Given the description of an element on the screen output the (x, y) to click on. 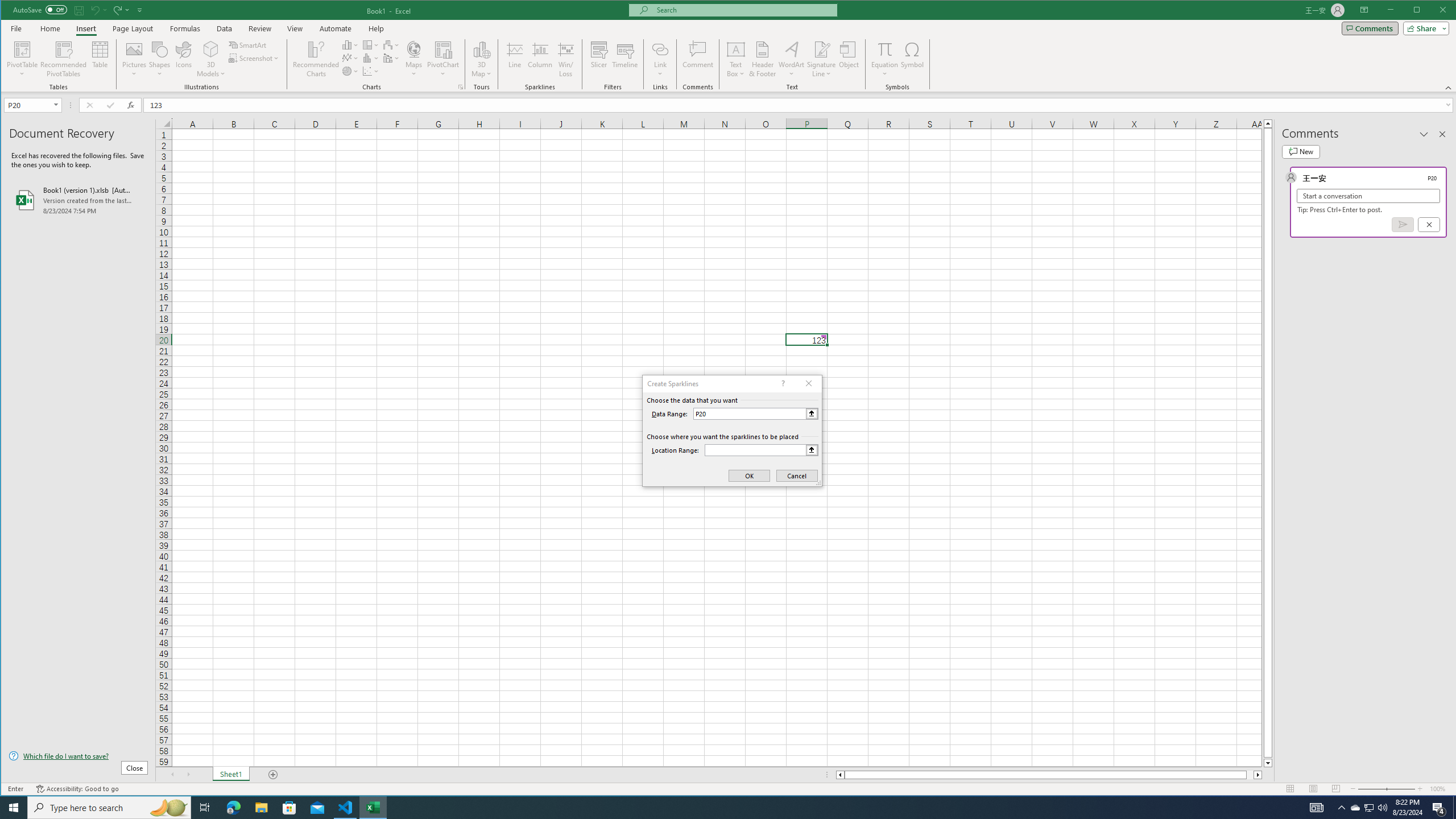
SmartArt... (248, 44)
Maximize (1432, 11)
Recommended Charts (460, 86)
Equation (884, 48)
Insert Combo Chart (391, 57)
Insert Column or Bar Chart (350, 44)
Class: MsoCommandBar (728, 45)
Start a conversation (1368, 195)
Insert Hierarchy Chart (371, 44)
Signature Line (821, 48)
